Given the description of an element on the screen output the (x, y) to click on. 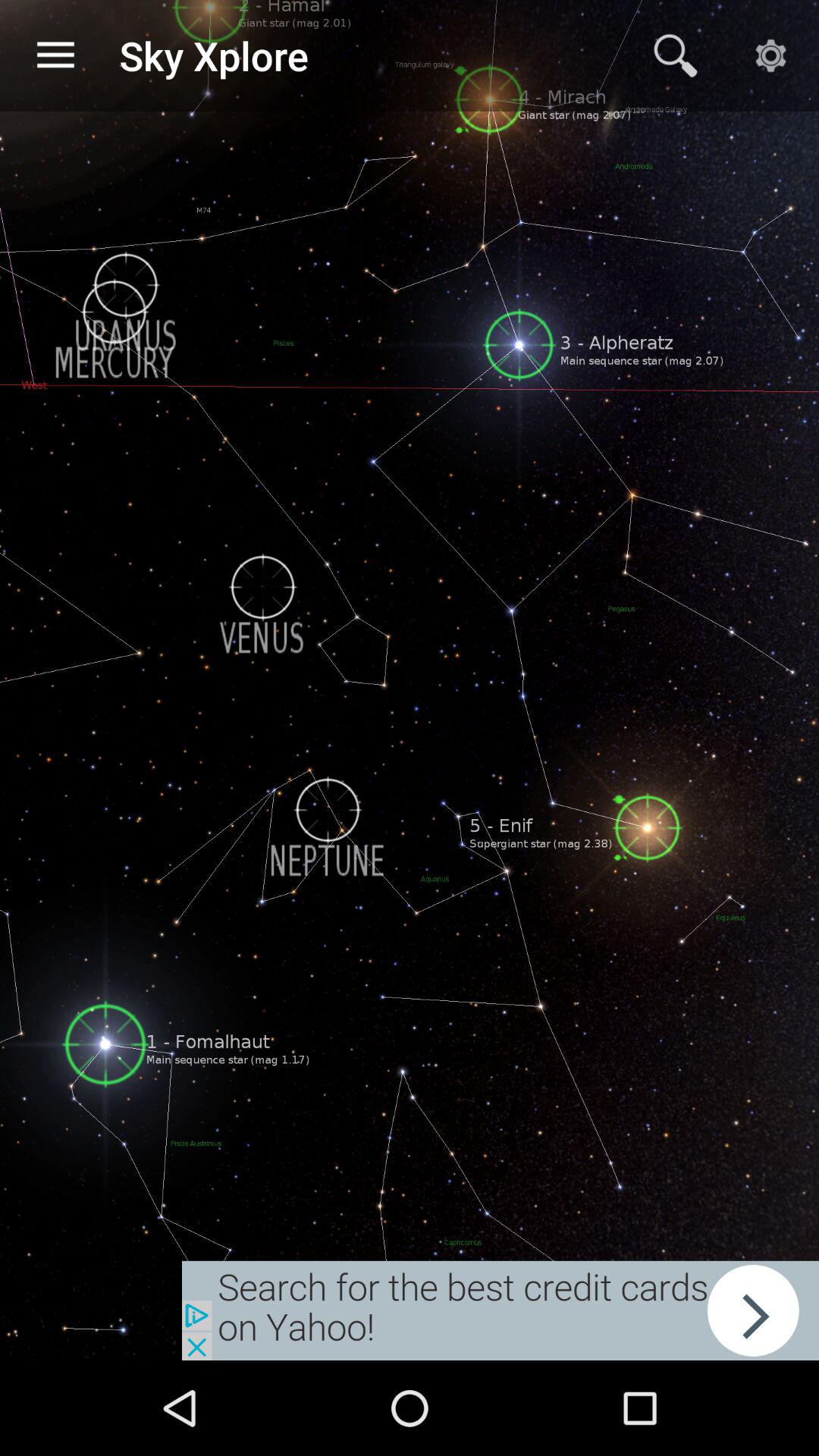
advertising pop up link (500, 1310)
